Given the description of an element on the screen output the (x, y) to click on. 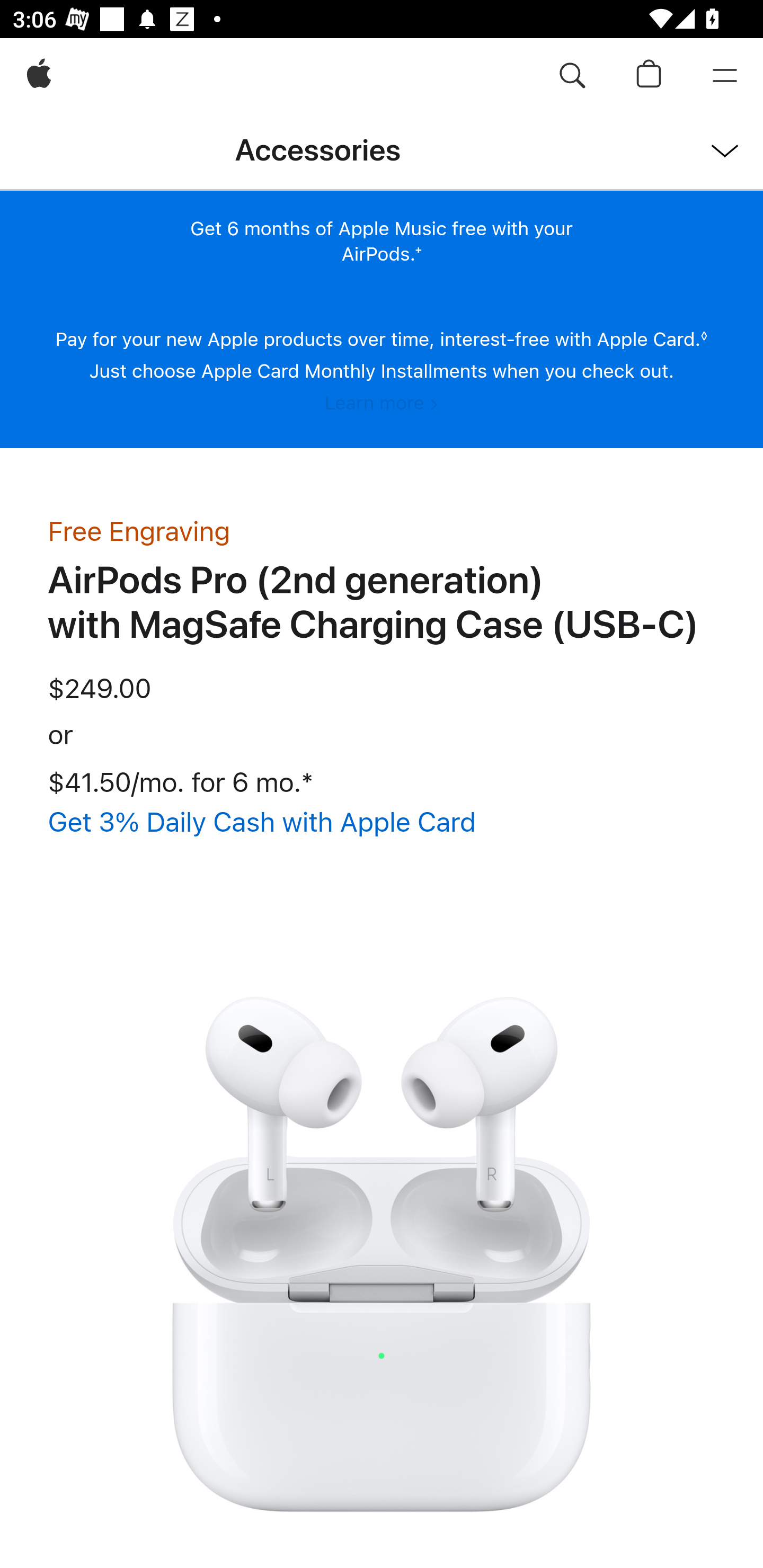
Apple (38, 75)
Search apple.com (572, 75)
Shopping Bag (648, 75)
Menu (724, 75)
Accessories (317, 151)
Browse all (698, 147)
Get 3% Daily Cash with Apple Card (261, 822)
